Given the description of an element on the screen output the (x, y) to click on. 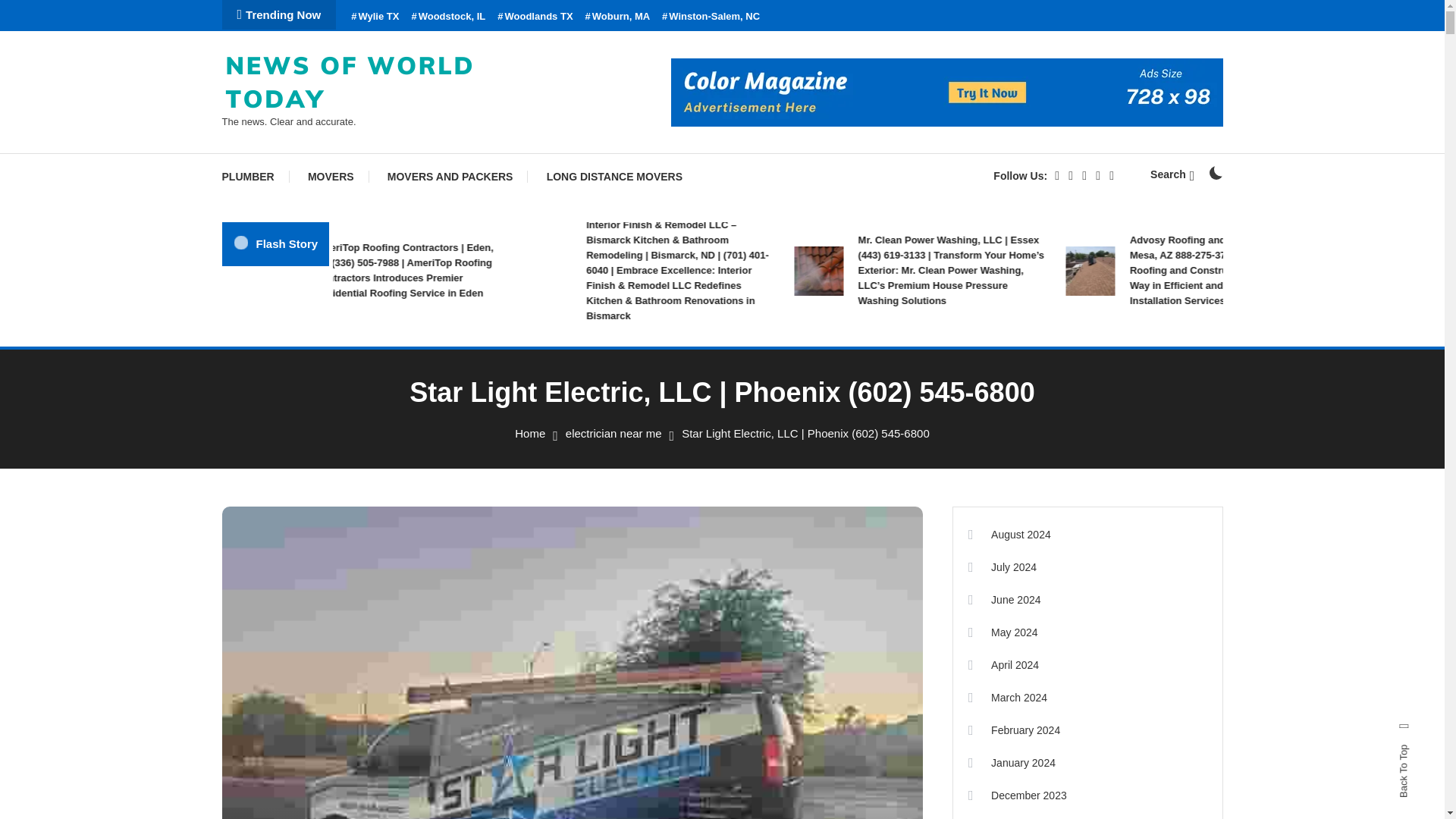
Search (768, 434)
MOVERS AND PACKERS (450, 176)
Woodstock, IL (447, 16)
MOVERS (330, 176)
Woburn, MA (617, 16)
Woodlands TX (534, 16)
Winston-Salem, NC (711, 16)
Wylie TX (374, 16)
Search (1171, 174)
on (1215, 172)
